Given the description of an element on the screen output the (x, y) to click on. 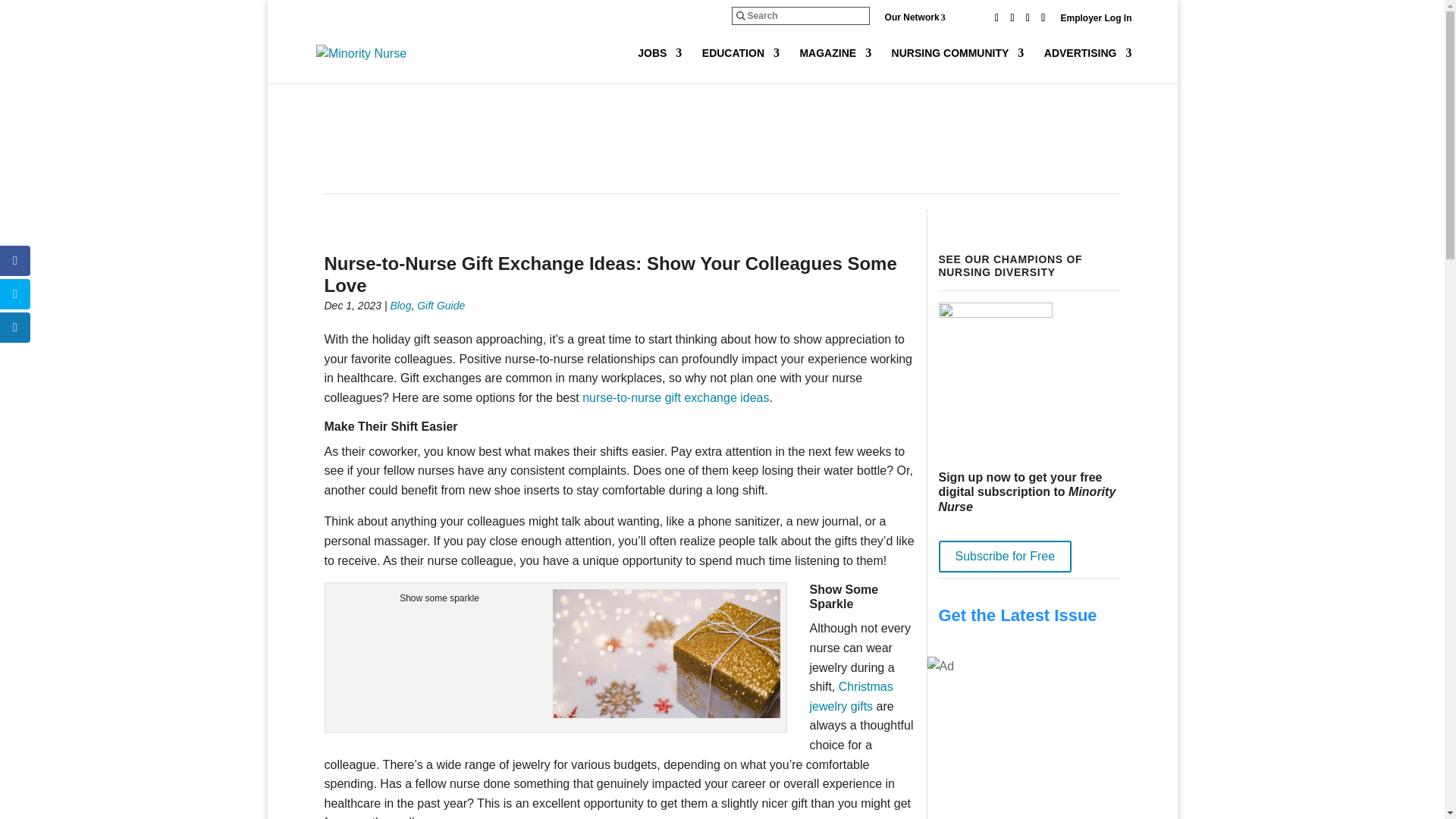
Employer Log In (1095, 21)
Subscribe for Free (1005, 556)
3rd party ad content (721, 141)
MAGAZINE (834, 65)
EDUCATION (739, 65)
Our Network (926, 17)
JOBS (659, 65)
NURSING COMMUNITY (958, 65)
